Given the description of an element on the screen output the (x, y) to click on. 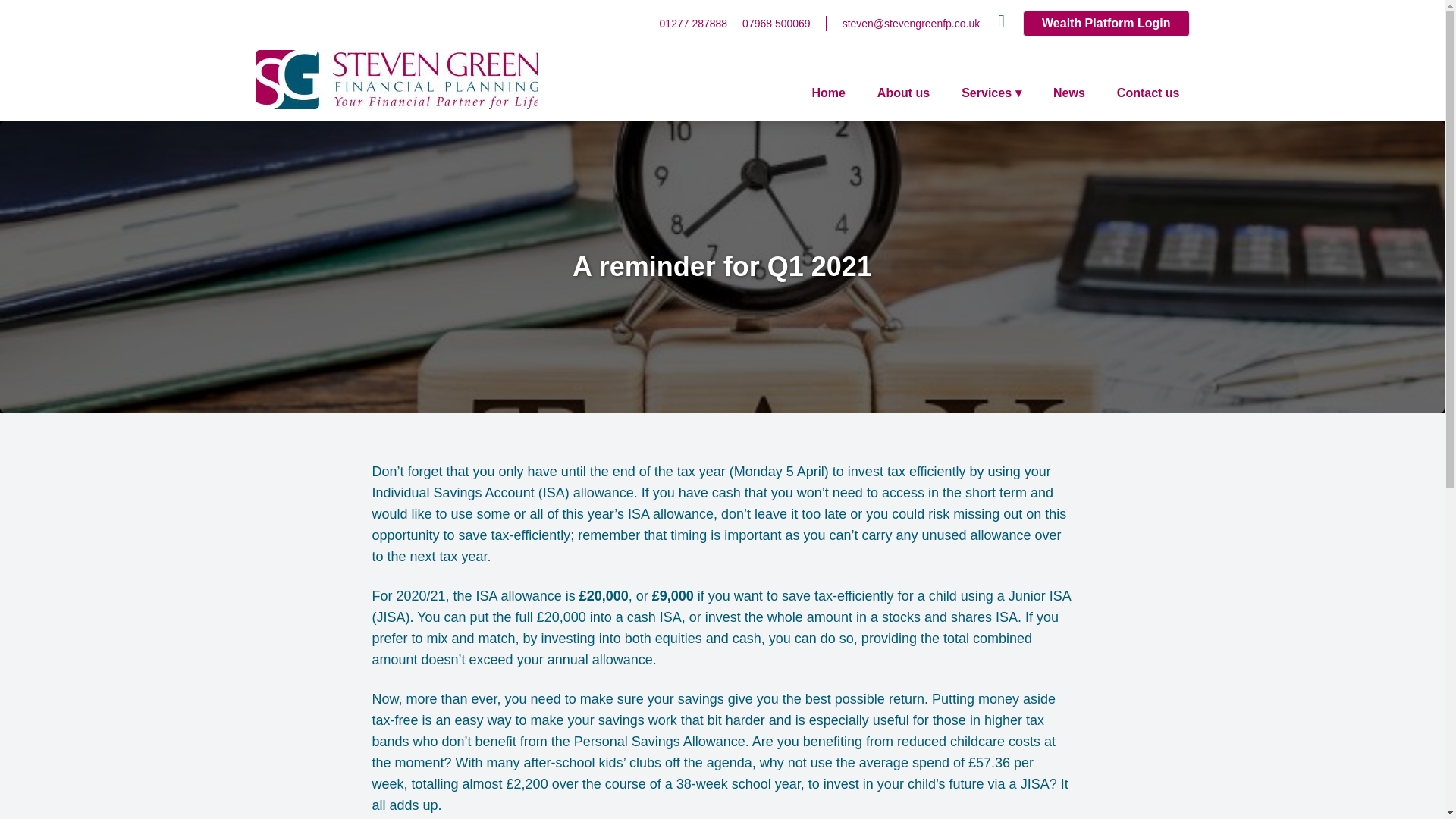
07968 500069 (776, 23)
News (1068, 92)
About us (903, 92)
Home (827, 92)
Services (991, 92)
Wealth Platform Login (1106, 23)
01277 287888 (693, 23)
Contact us (1148, 92)
